Given the description of an element on the screen output the (x, y) to click on. 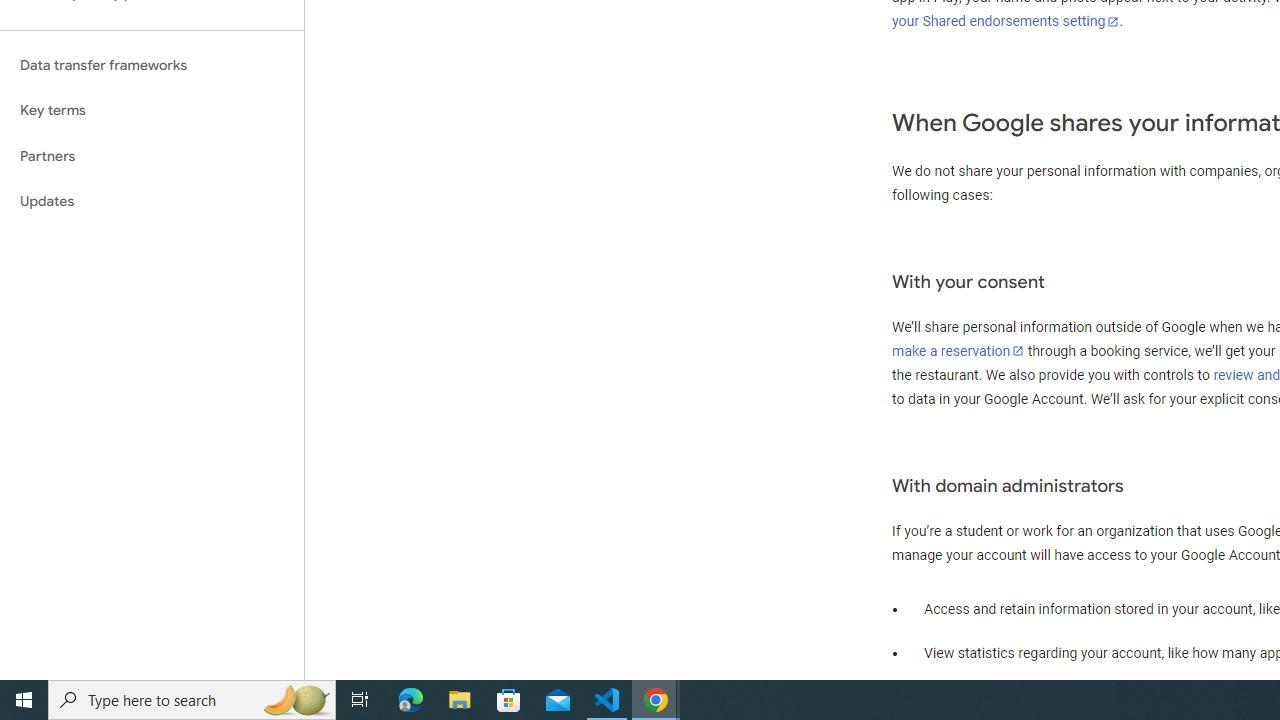
Key terms (152, 110)
Data transfer frameworks (152, 65)
Partners (152, 156)
